Given the description of an element on the screen output the (x, y) to click on. 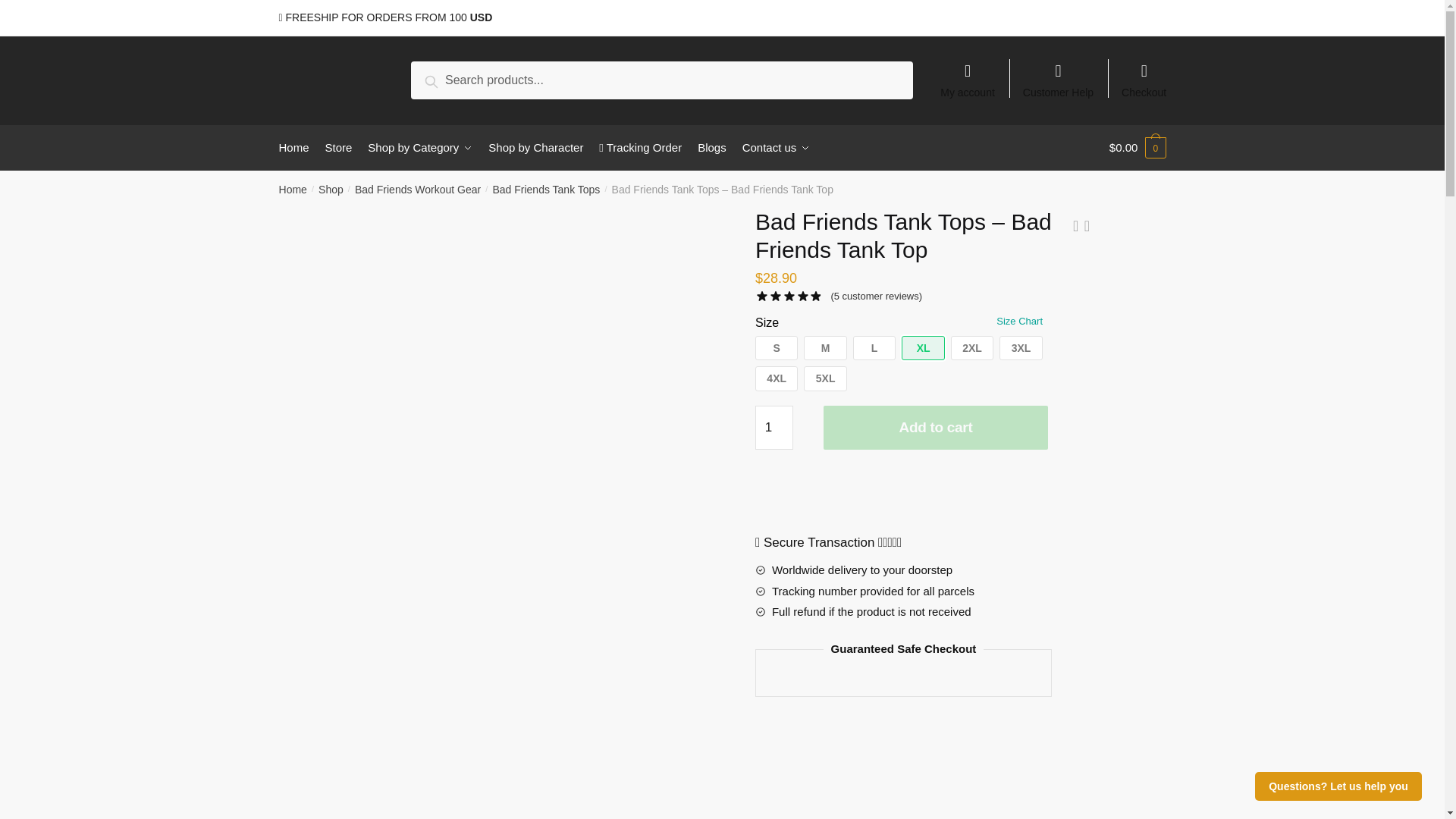
L (874, 348)
Search (448, 78)
S (776, 348)
Checkout (1144, 73)
4XL (776, 378)
Customer Help (1058, 73)
XL (922, 348)
3XL (1020, 348)
Shop by Category (420, 147)
2XL (971, 348)
